Given the description of an element on the screen output the (x, y) to click on. 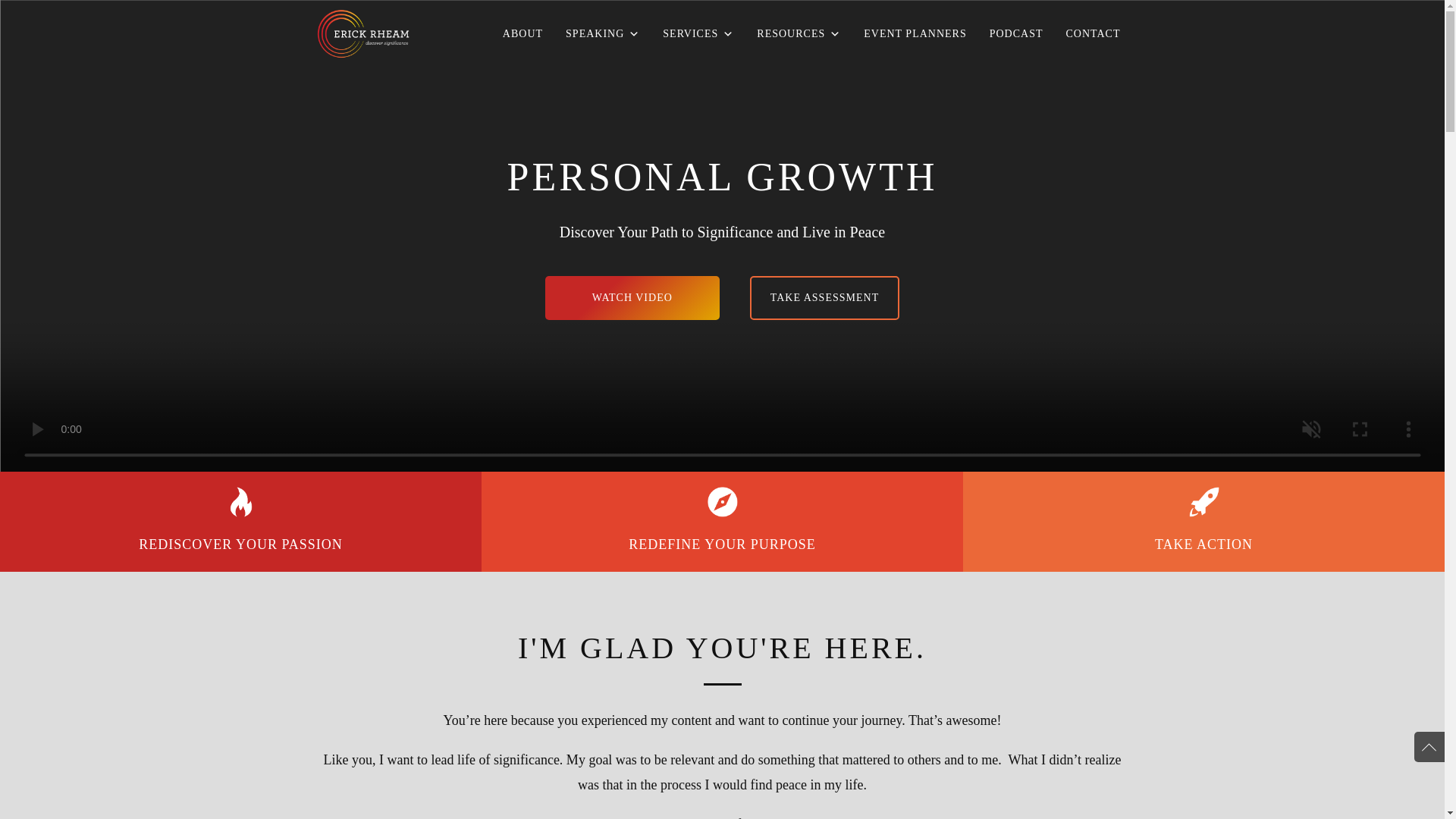
PODCAST (1016, 33)
ABOUT (523, 33)
EVENT PLANNERS (913, 33)
CONTACT (1092, 33)
TAKE ASSESSMENT (824, 298)
SERVICES (697, 33)
RESOURCES (798, 33)
WATCH VIDEO (631, 298)
SPEAKING (602, 33)
